Given the description of an element on the screen output the (x, y) to click on. 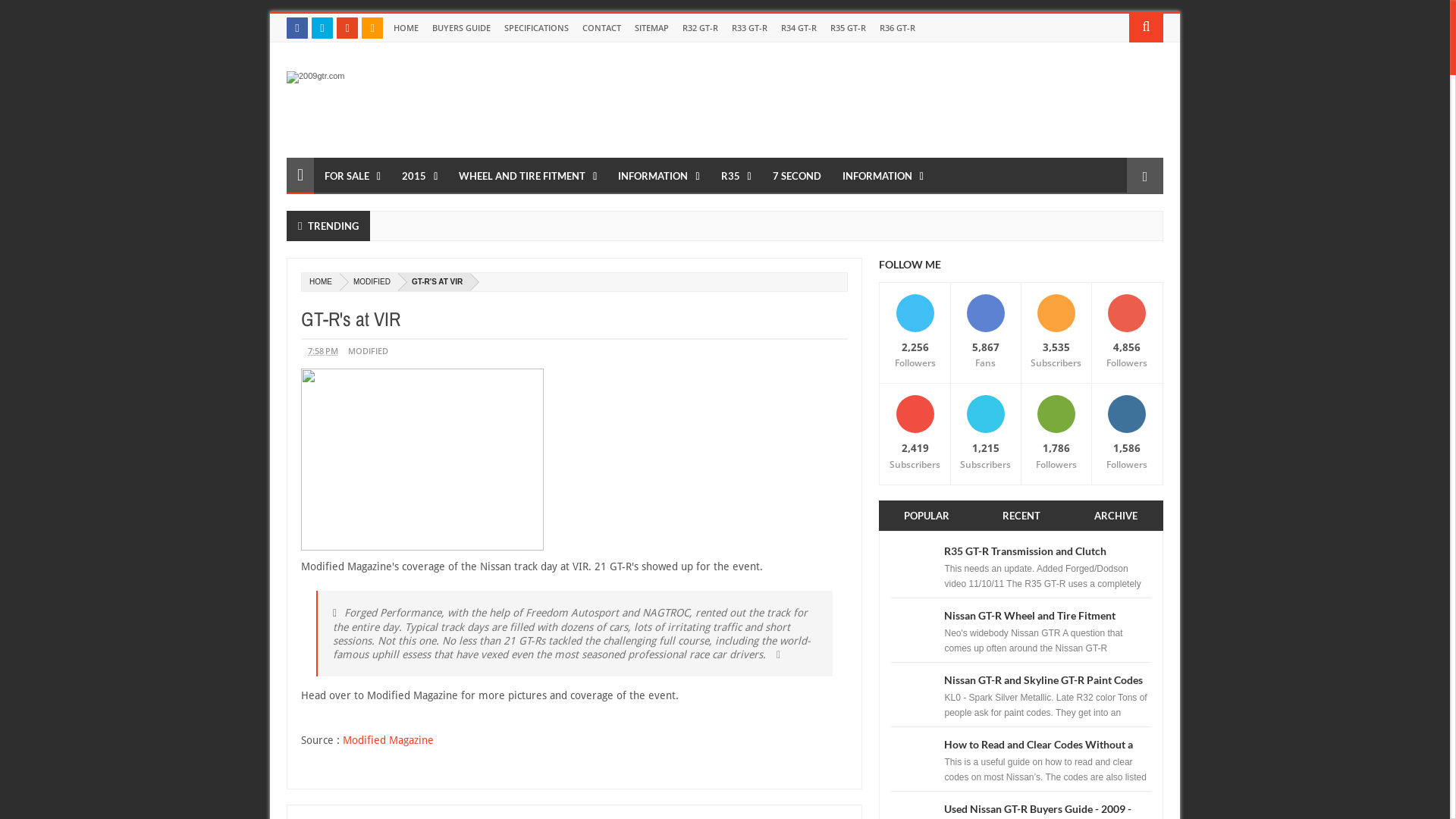
2,419
Subscribers Element type: text (914, 433)
GT-R'S AT VIR Element type: text (434, 282)
2015 Element type: text (419, 175)
How to Read and Clear Codes Without a Scan Tool Element type: text (1038, 752)
1,786
Followers Element type: text (1056, 433)
R35 GT-R Element type: text (847, 27)
Nissan GT-R Wheel and Tire Fitment Element type: text (1029, 614)
R34 GT-R Element type: text (798, 27)
FOR SALE Element type: text (352, 175)
HOME Element type: text (405, 27)
R36 GT-R Element type: text (897, 27)
5,867
Fans Element type: text (985, 332)
R35 GT-R Transmission and Clutch Upgrades Element type: text (1025, 559)
CONTACT Element type: text (601, 27)
SPECIFICATIONS Element type: text (536, 27)
MODIFIED Element type: text (368, 350)
GT-R's at VIR Element type: text (574, 318)
Modified Magazine Element type: text (387, 740)
4,856
Followers Element type: text (1127, 332)
SITEMAP Element type: text (651, 27)
INFORMATION Element type: text (882, 175)
WHEEL AND TIRE FITMENT Element type: text (527, 175)
3,535
Subscribers Element type: text (1056, 332)
1,586
Followers Element type: text (1127, 433)
MODIFIED Element type: text (368, 282)
Advertisement Element type: hover (887, 100)
7 SECOND Element type: text (796, 175)
R32 GT-R Element type: text (699, 27)
R35 Element type: text (736, 175)
1,215
Subscribers Element type: text (985, 433)
INFORMATION Element type: text (658, 175)
BUYERS GUIDE Element type: text (461, 27)
R33 GT-R Element type: text (749, 27)
Nissan GT-R and Skyline GT-R Paint Codes Element type: text (1043, 679)
HOME Element type: text (320, 282)
2,256
Followers Element type: text (914, 332)
